Given the description of an element on the screen output the (x, y) to click on. 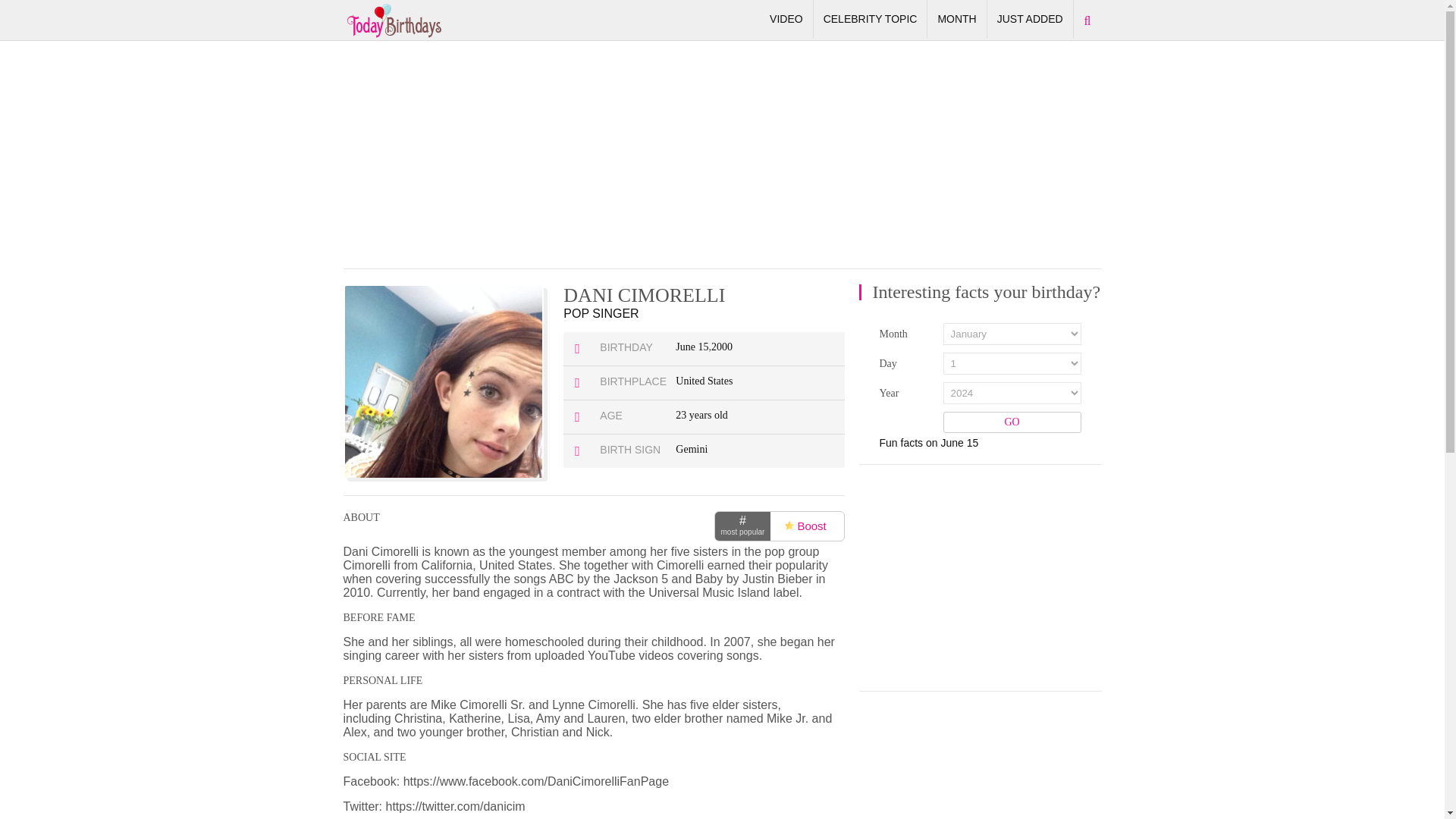
23 years old (700, 415)
Advertisement (972, 578)
United States (703, 381)
MONTH (956, 19)
VIDEO (786, 19)
JUST ADDED (1029, 19)
CELEBRITY TOPIC (870, 19)
2000 (721, 346)
Gemini (691, 449)
Boost (805, 525)
June 15 (691, 346)
POP SINGER (601, 314)
